Given the description of an element on the screen output the (x, y) to click on. 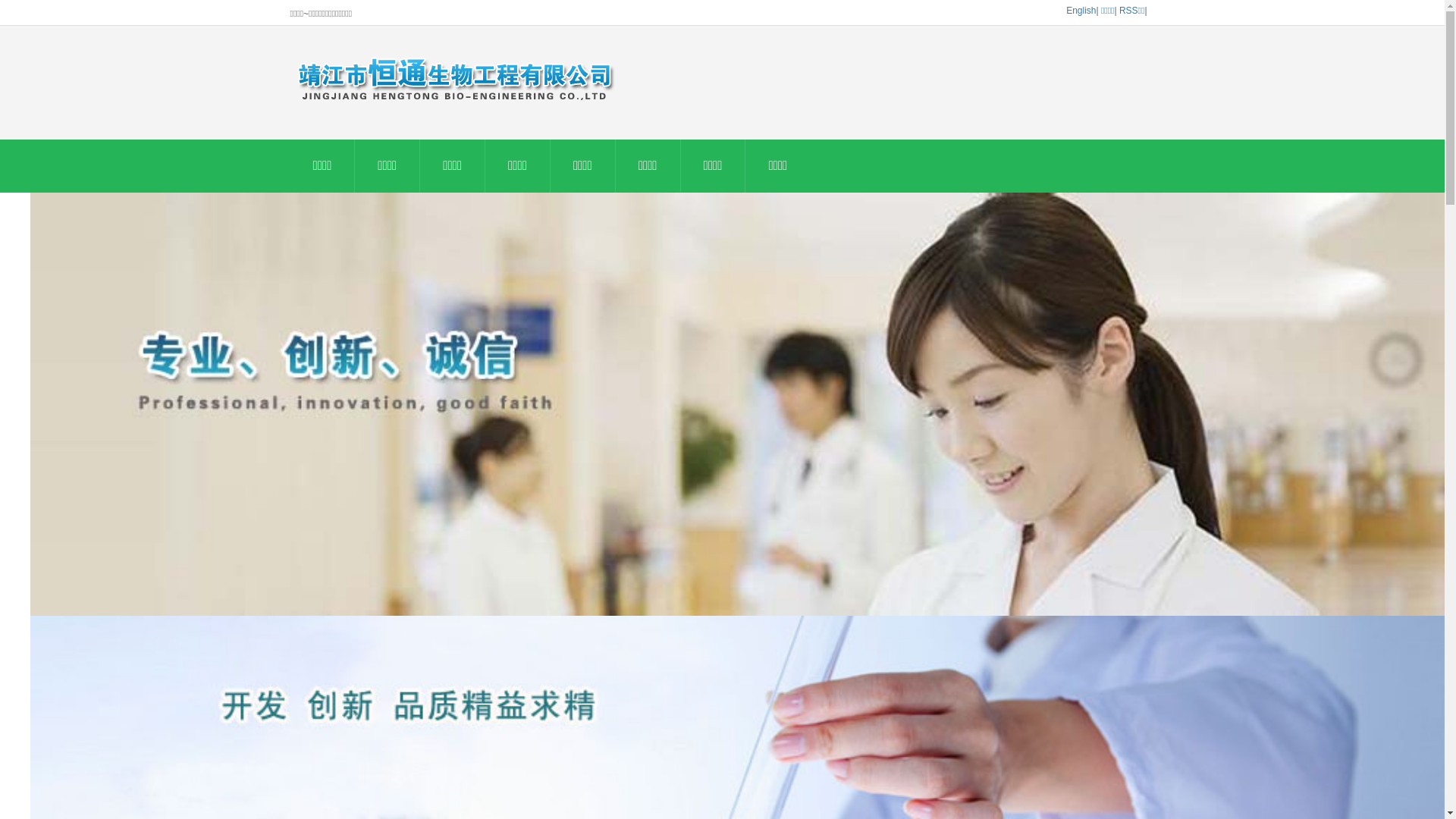
English Element type: text (1080, 10)
